Given the description of an element on the screen output the (x, y) to click on. 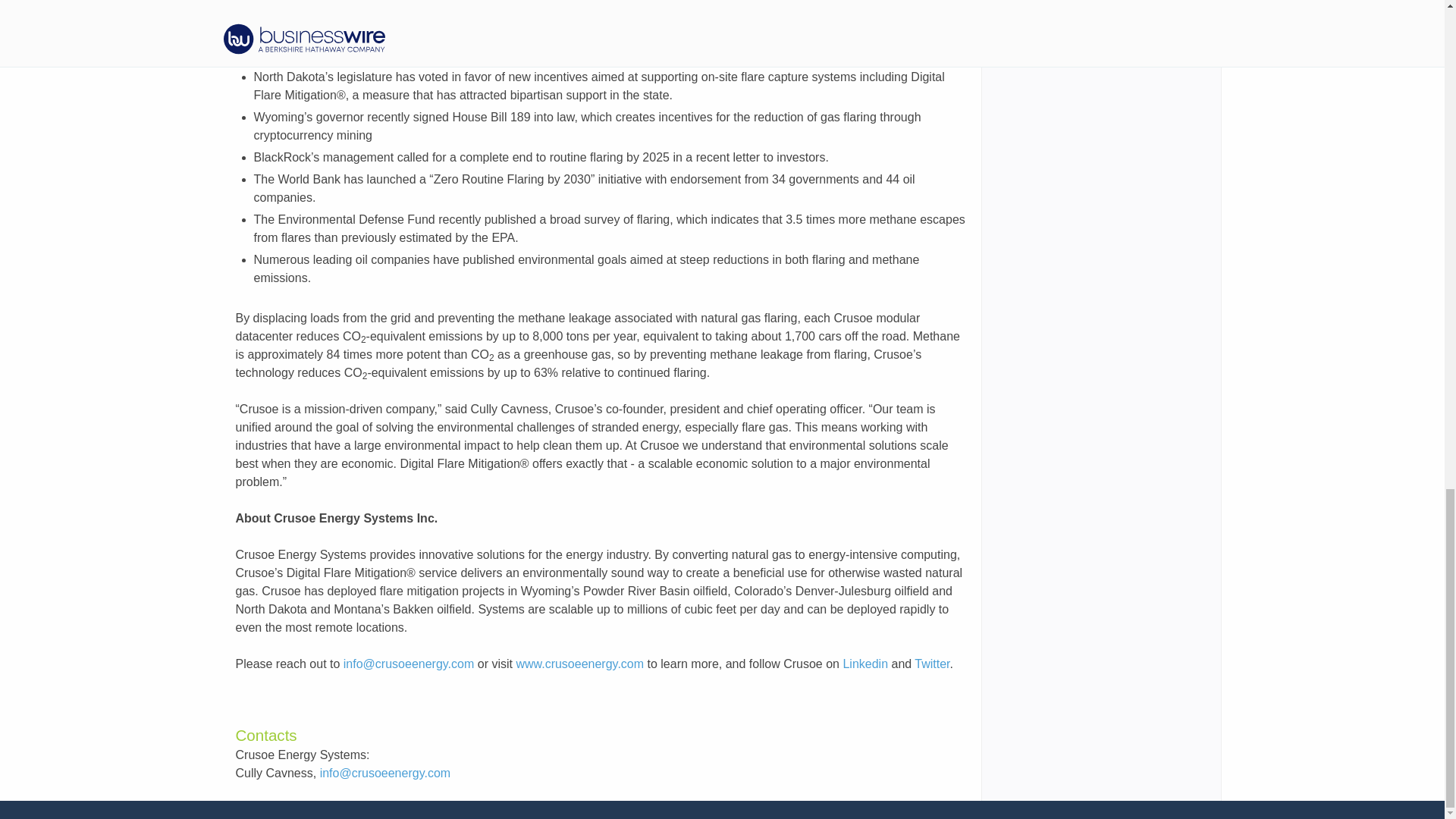
Twitter (931, 663)
Linkedin (865, 663)
www.crusoeenergy.com (579, 663)
